Given the description of an element on the screen output the (x, y) to click on. 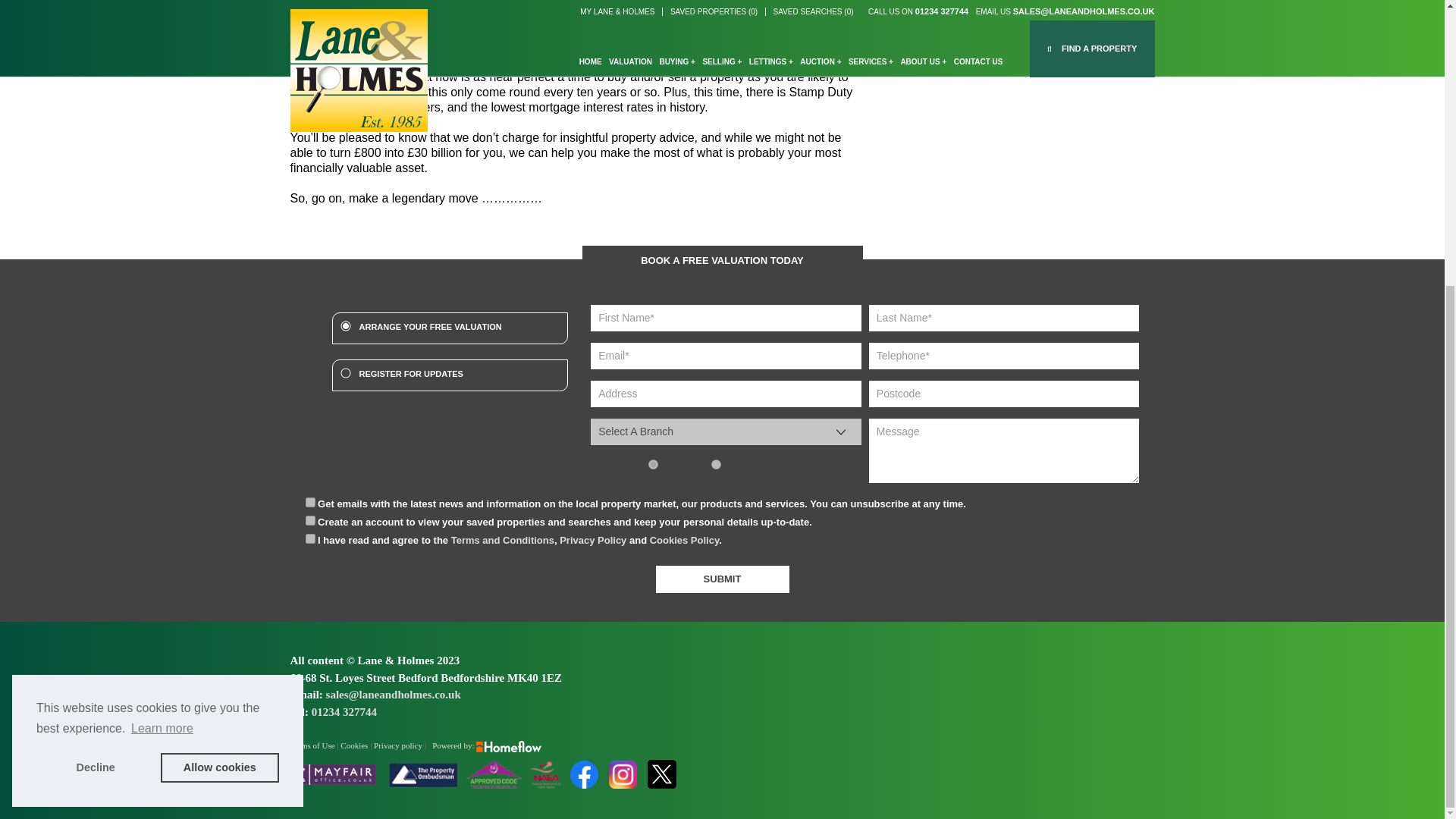
Allow cookies (219, 336)
on (309, 538)
Submit (721, 579)
on (309, 520)
lettings (715, 464)
sales (652, 464)
websites (454, 745)
Decline (95, 336)
on (309, 501)
Learn more (162, 296)
